Given the description of an element on the screen output the (x, y) to click on. 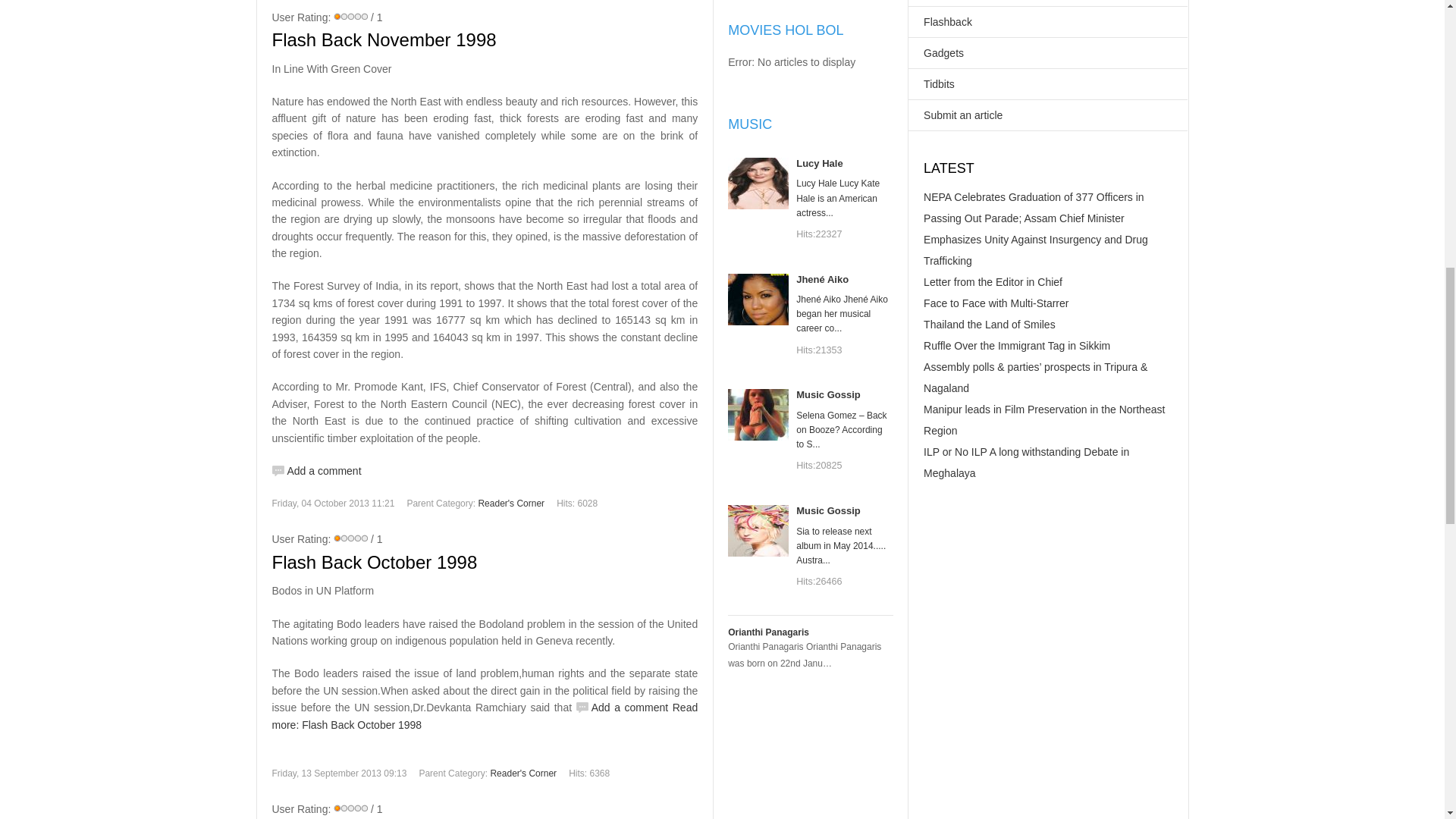
Add a comment (622, 707)
Reader's Corner (522, 773)
Reader's Corner (510, 502)
Add a comment (315, 470)
Add a comment (315, 470)
Add a comment (622, 707)
Read more: Flash Back October 1998 (483, 715)
